Given the description of an element on the screen output the (x, y) to click on. 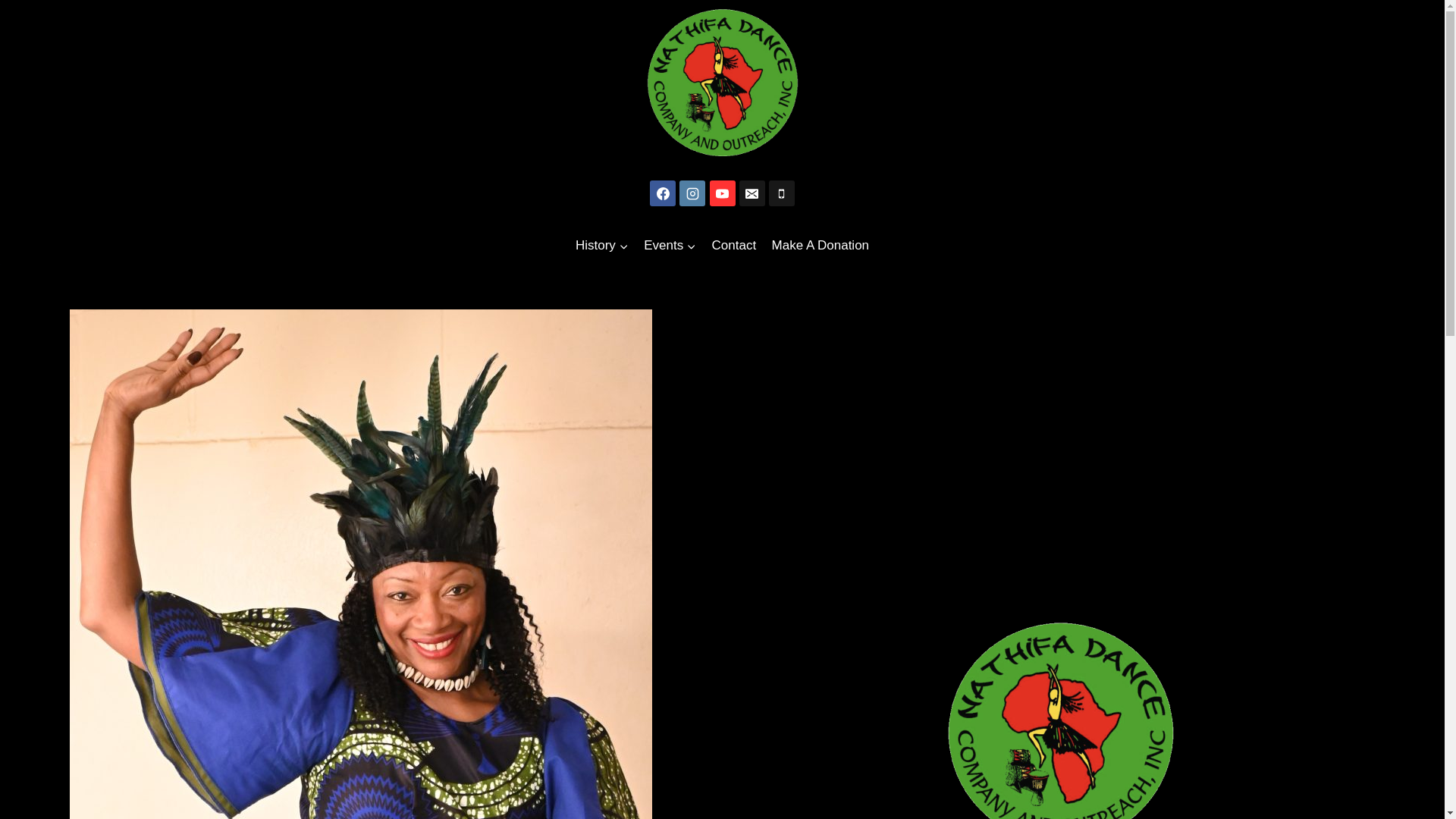
Make A Donation (819, 245)
Contact (732, 245)
History (601, 245)
Events (669, 245)
